Given the description of an element on the screen output the (x, y) to click on. 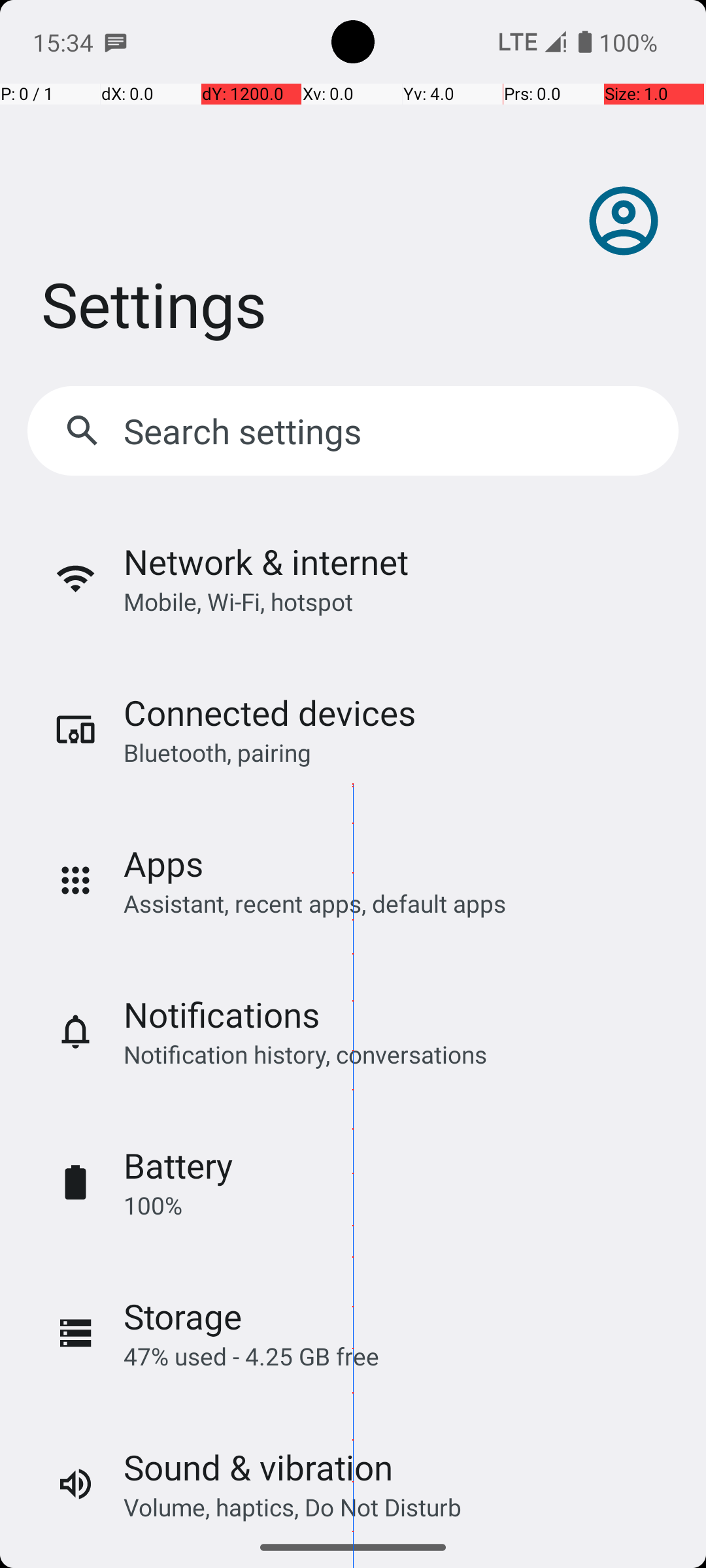
SMS Messenger notification: Juan Alves Element type: android.widget.ImageView (115, 41)
